Given the description of an element on the screen output the (x, y) to click on. 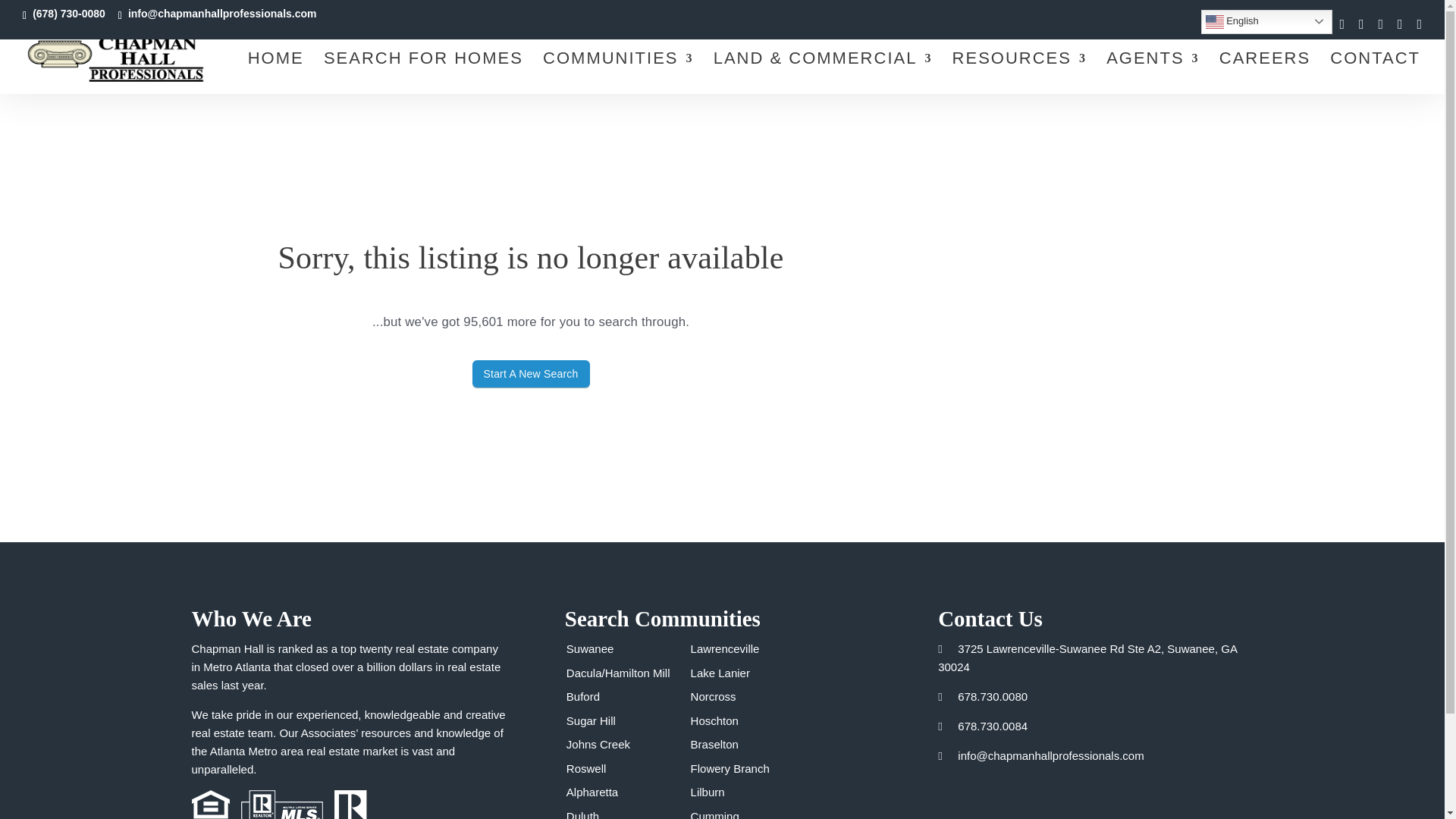
English (1266, 21)
AGENTS (1152, 73)
CAREERS (1265, 73)
SEARCH FOR HOMES (422, 73)
HOME (275, 73)
RESOURCES (1019, 73)
COMMUNITIES (618, 73)
